Given the description of an element on the screen output the (x, y) to click on. 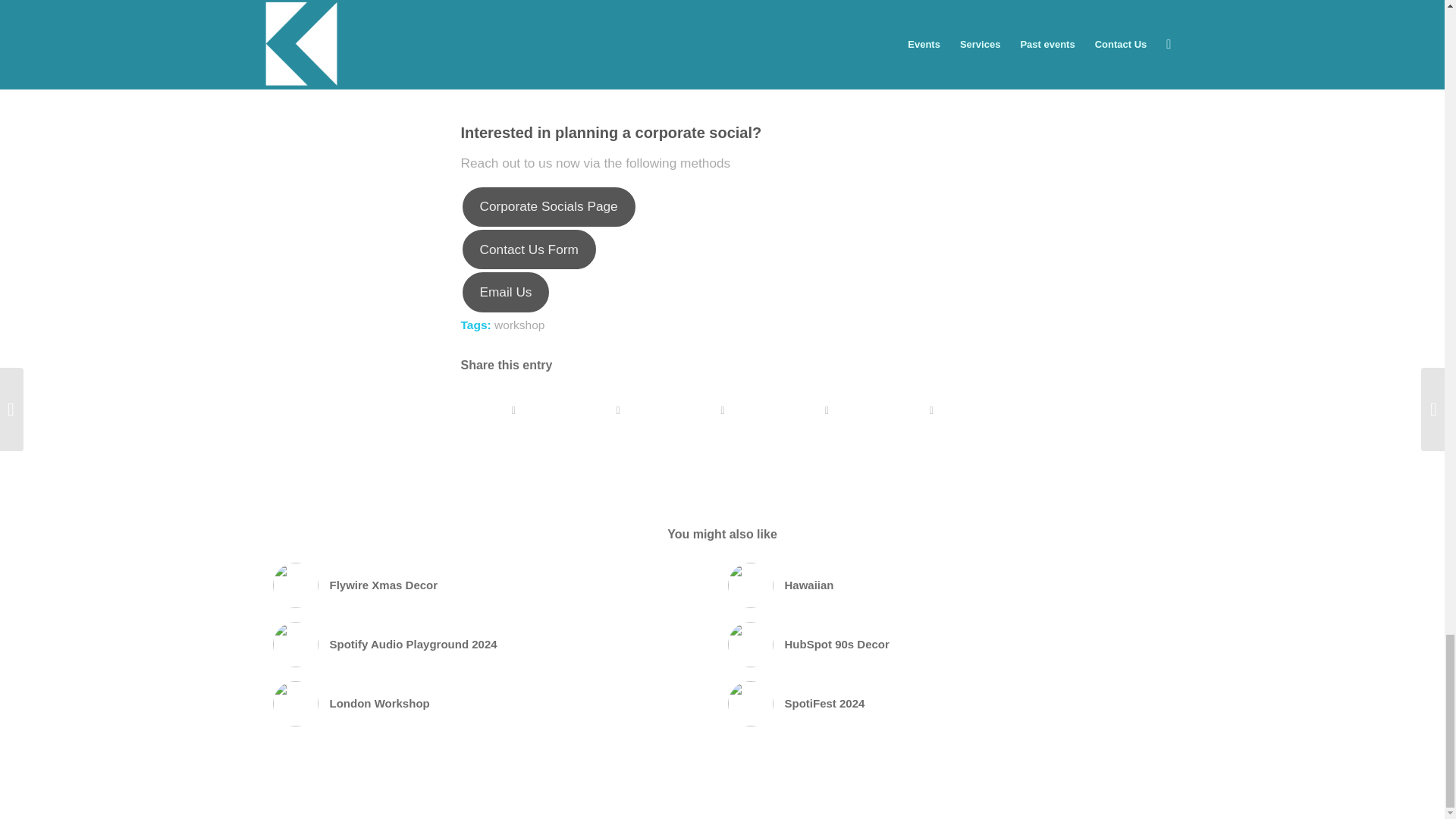
Spotify Audio Playground 2024 (492, 644)
Corporate Socials Page (549, 206)
Email Us (506, 291)
Hawaiian (948, 585)
Flywire Xmas Decor (492, 585)
Contact Us Form (528, 249)
Spotify Audio Playground 2024 (492, 644)
Hawaiian (948, 585)
Flywire Xmas Decor (492, 585)
BybitGroup-12 (750, 585)
